Given the description of an element on the screen output the (x, y) to click on. 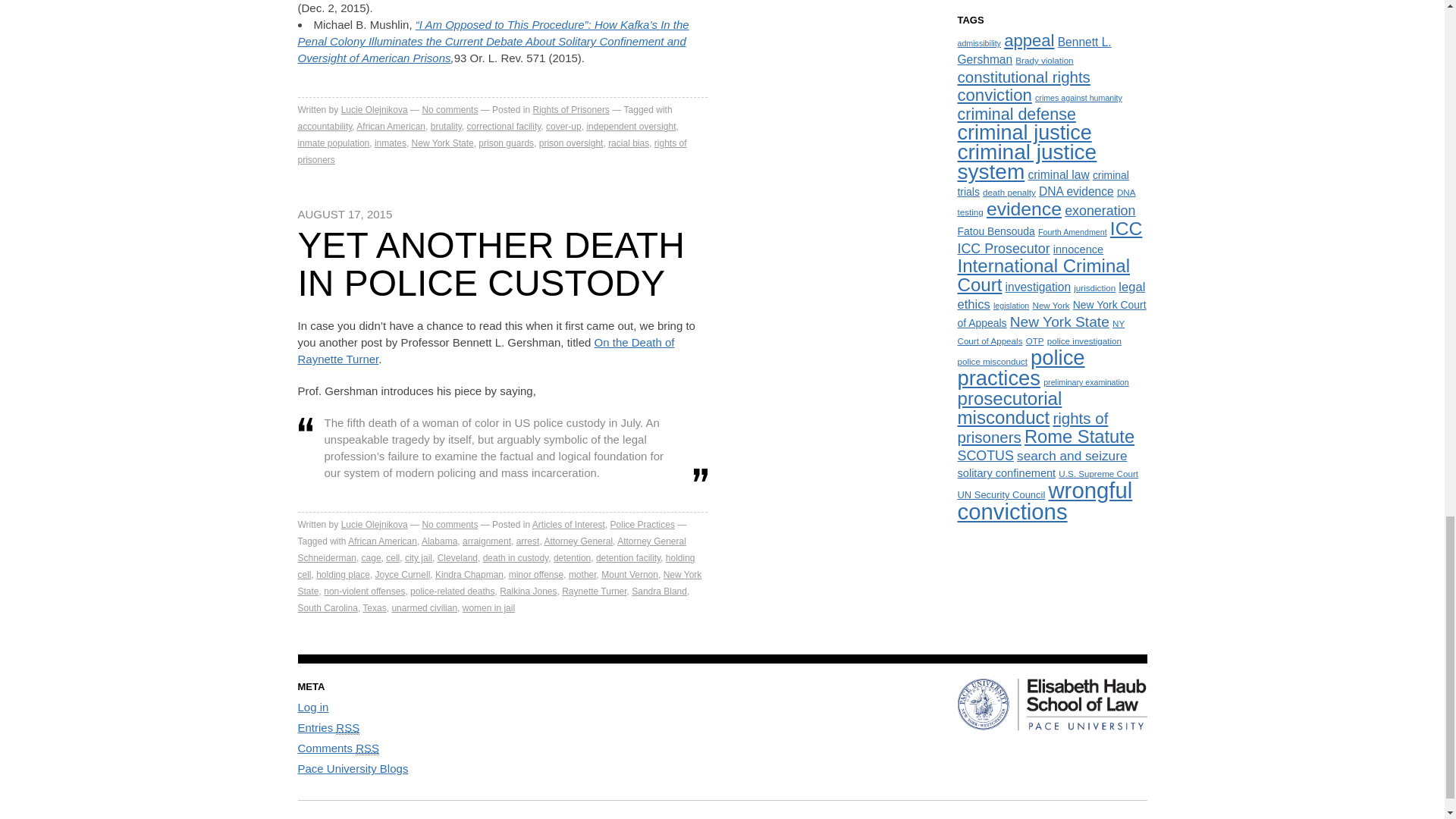
inmate population (333, 143)
independent oversight (630, 126)
Posts by Lucie Olejnikova (373, 524)
accountability (324, 126)
Powered by Pace University Blogs (352, 768)
correctional facility (504, 126)
cover-up (563, 126)
No comments (449, 109)
Subscribe me! (1028, 464)
Really Simple Syndication (366, 748)
